Given the description of an element on the screen output the (x, y) to click on. 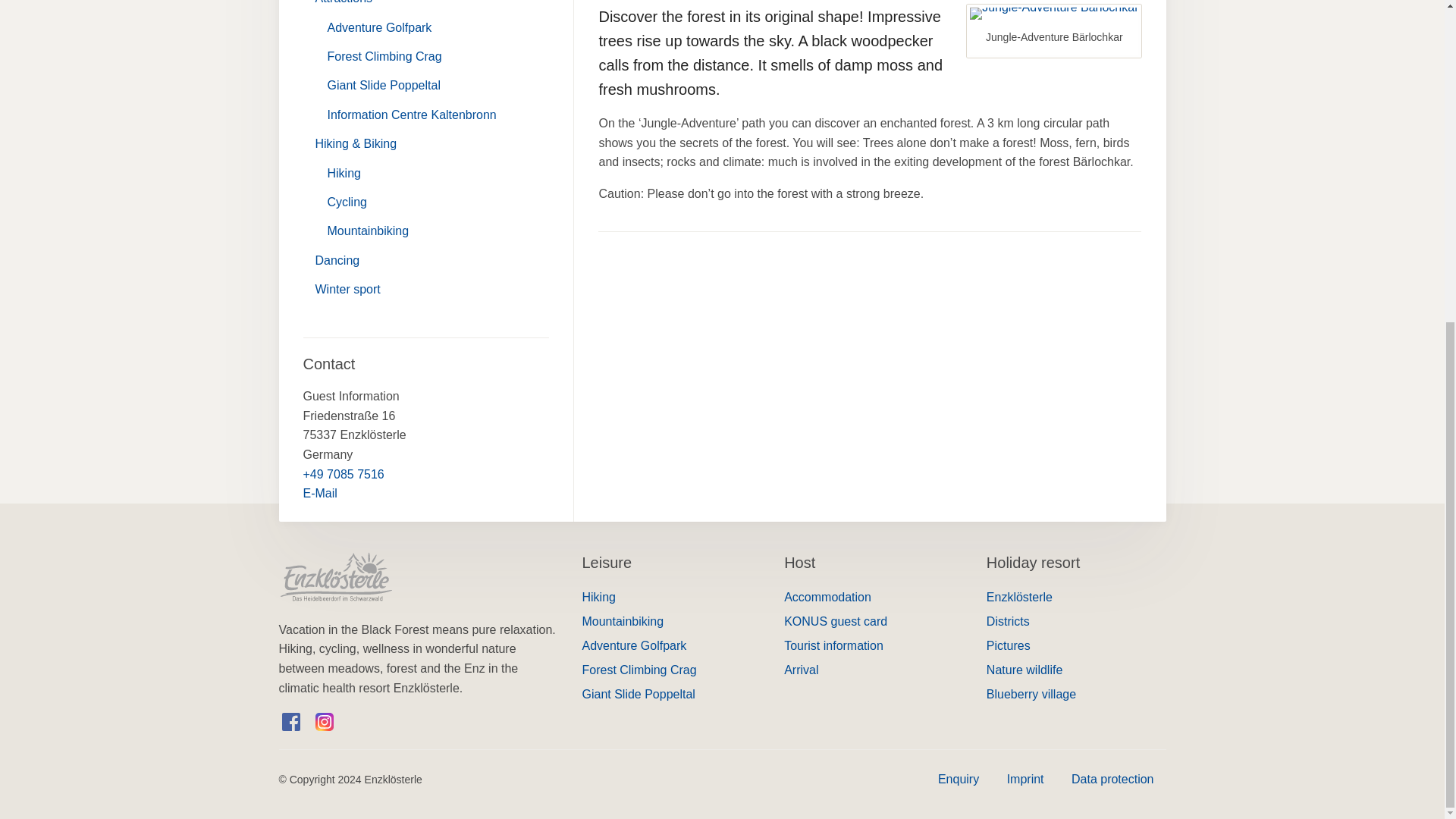
External accommodation portal (873, 597)
